Given the description of an element on the screen output the (x, y) to click on. 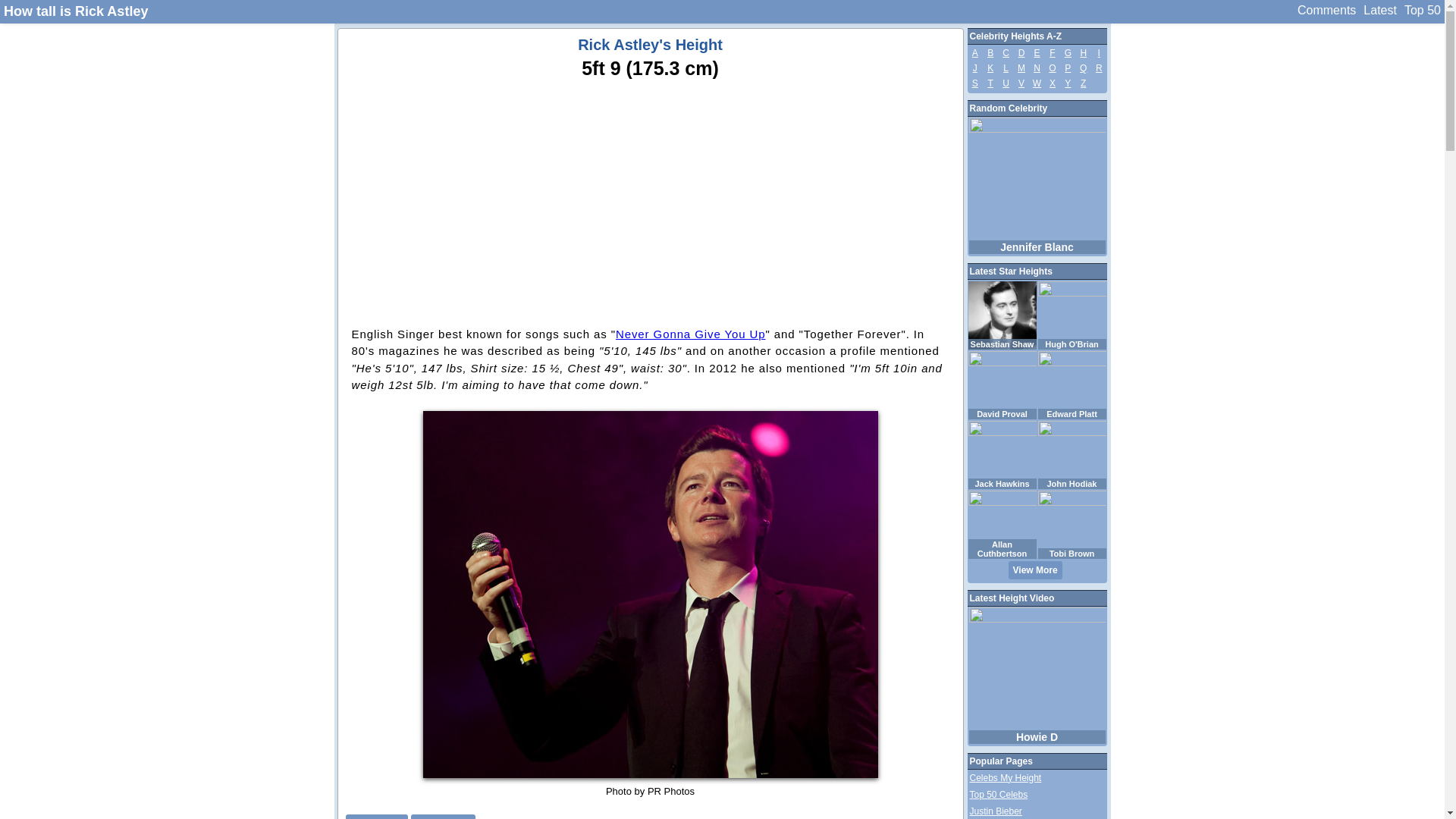
Rick Heights (443, 816)
Latest (1379, 10)
Comments (1326, 10)
Pop Singers (376, 816)
Never Gonna Give You Up (690, 333)
